Given the description of an element on the screen output the (x, y) to click on. 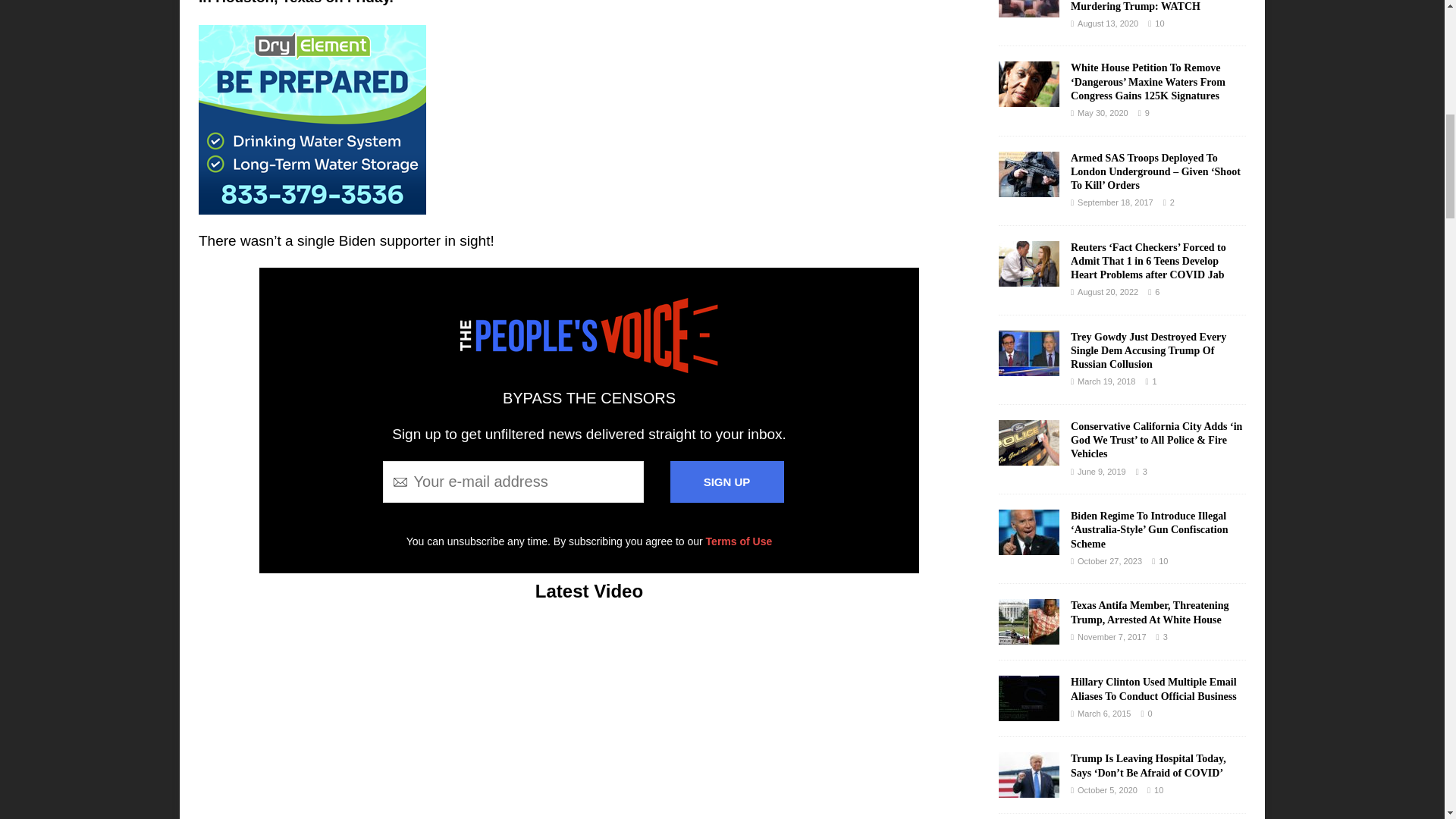
SIGN UP (726, 481)
